Given the description of an element on the screen output the (x, y) to click on. 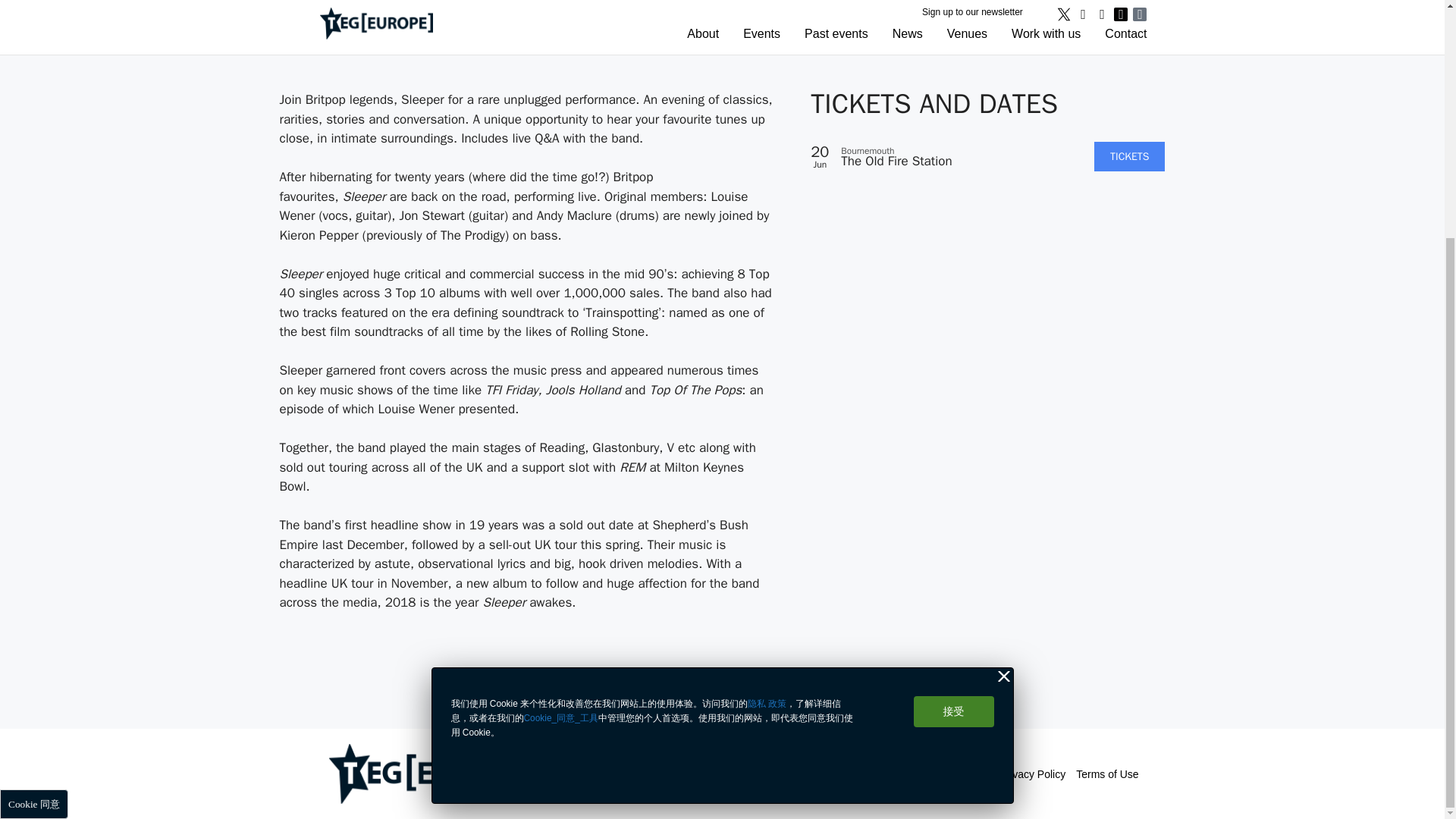
TICKETS (1129, 156)
TICKETS (1129, 155)
